Given the description of an element on the screen output the (x, y) to click on. 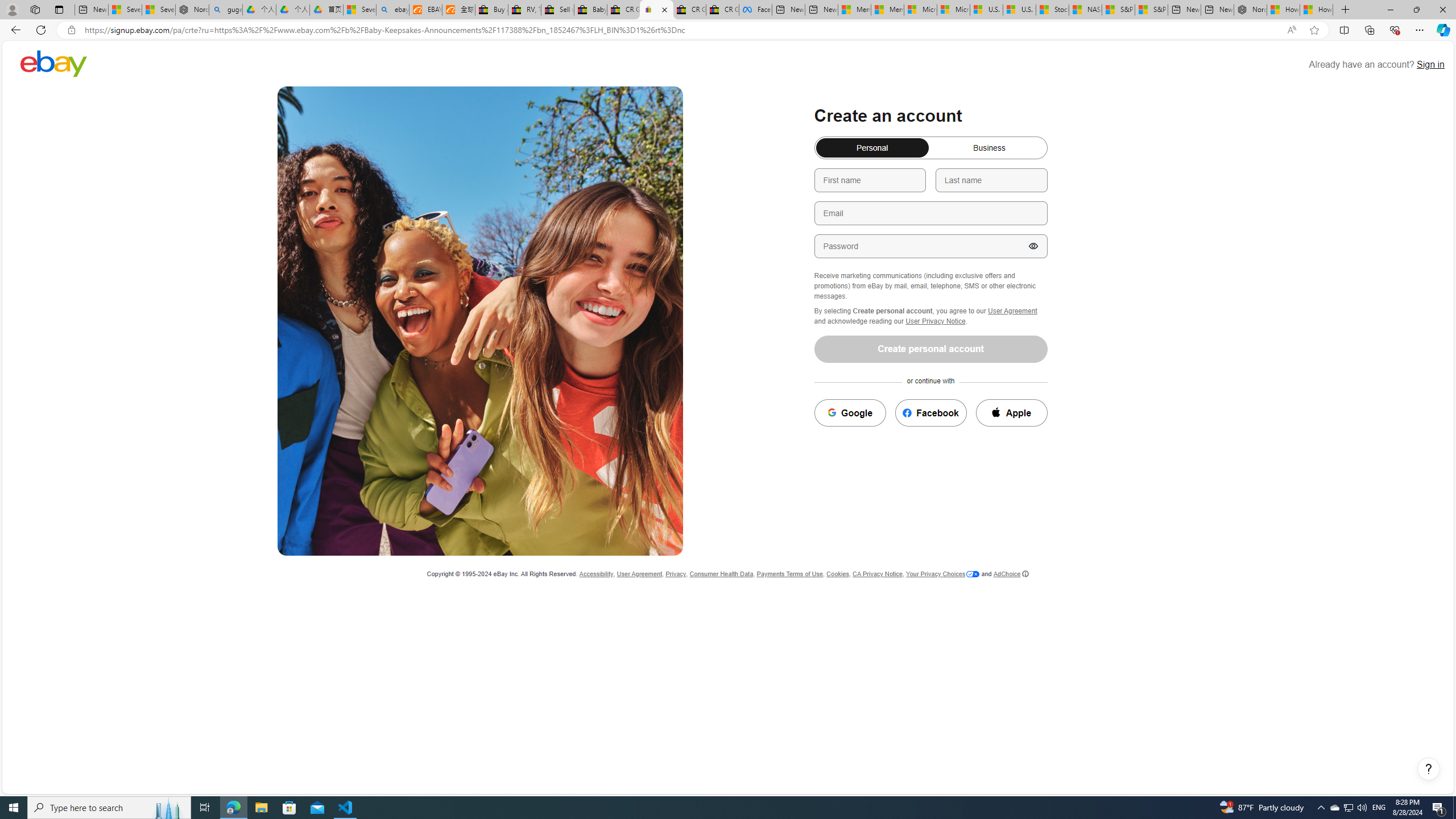
eBay Home (53, 62)
Create personal account (930, 348)
User Privacy Notice (935, 321)
Help, opens dialogs (1428, 768)
Email (929, 213)
Last name (991, 179)
Business (821, 143)
